Given the description of an element on the screen output the (x, y) to click on. 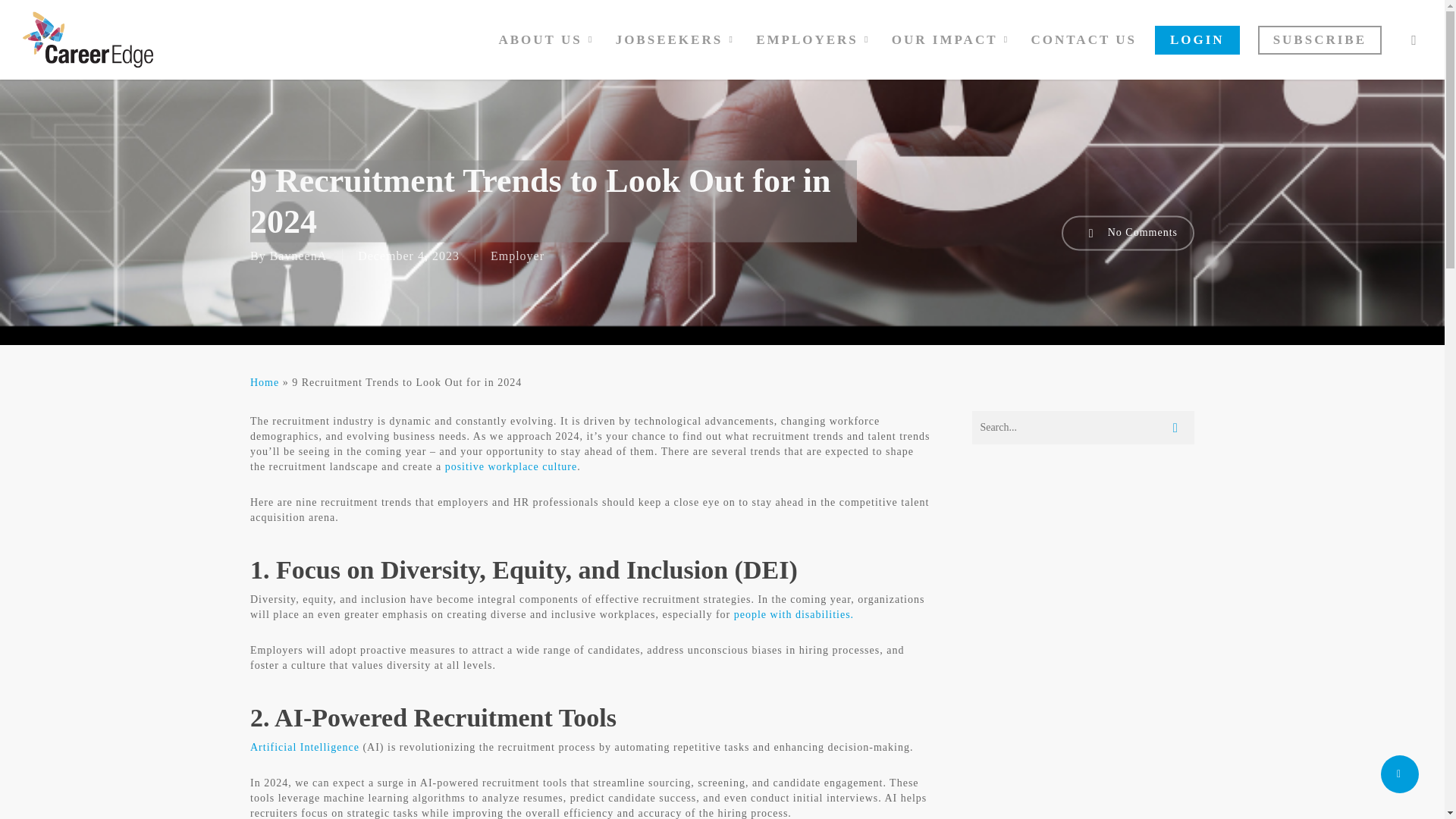
Search for: (1082, 427)
JOBSEEKERS (677, 38)
positive workplace culture (511, 466)
Posts by BavneenA (298, 254)
Home (264, 382)
ABOUT US (547, 38)
SUBSCRIBE (1319, 38)
OUR IMPACT (952, 38)
search (1414, 38)
Artificial Intelligence (304, 747)
